Given the description of an element on the screen output the (x, y) to click on. 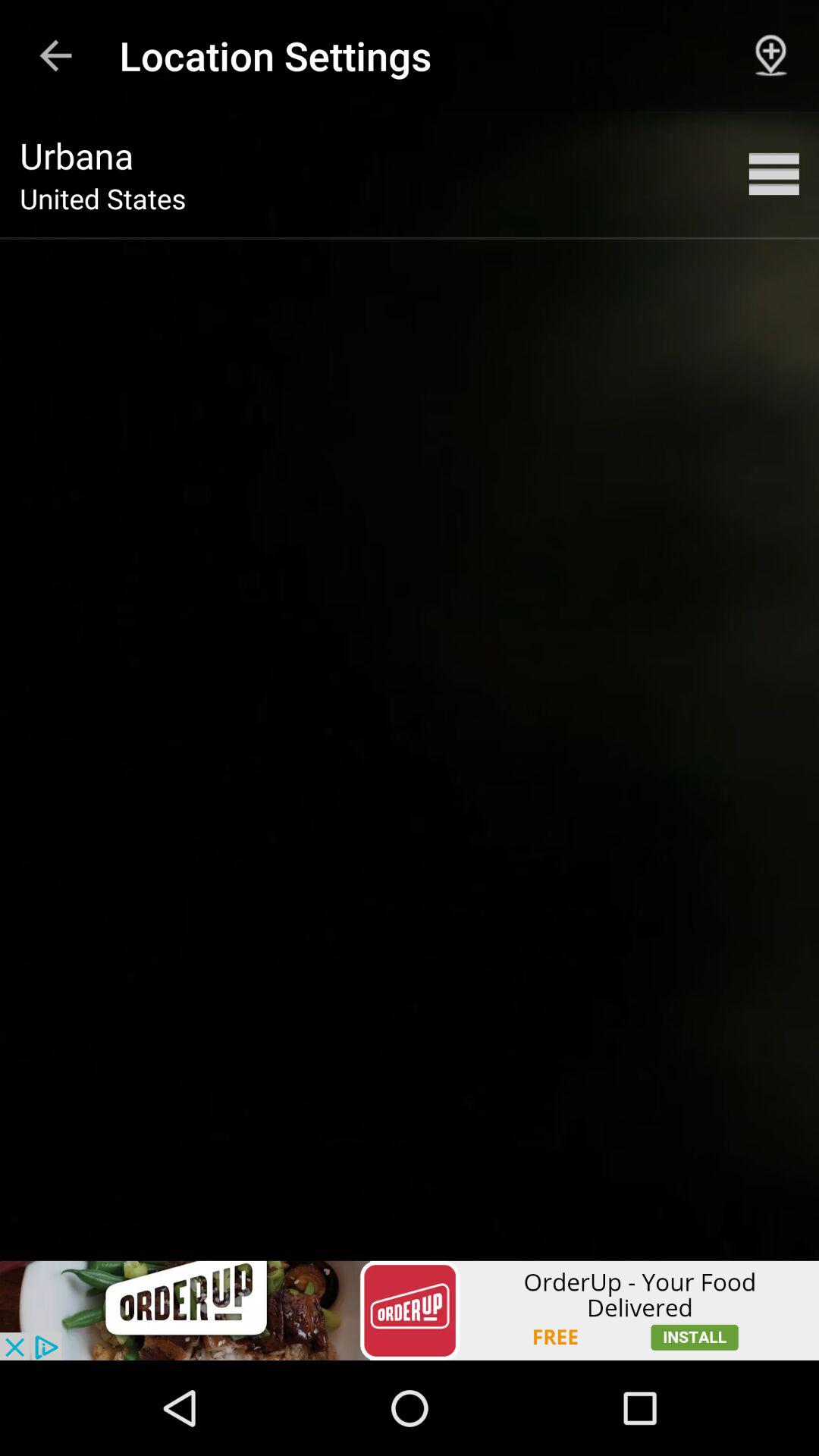
view advertisement (409, 1310)
